Given the description of an element on the screen output the (x, y) to click on. 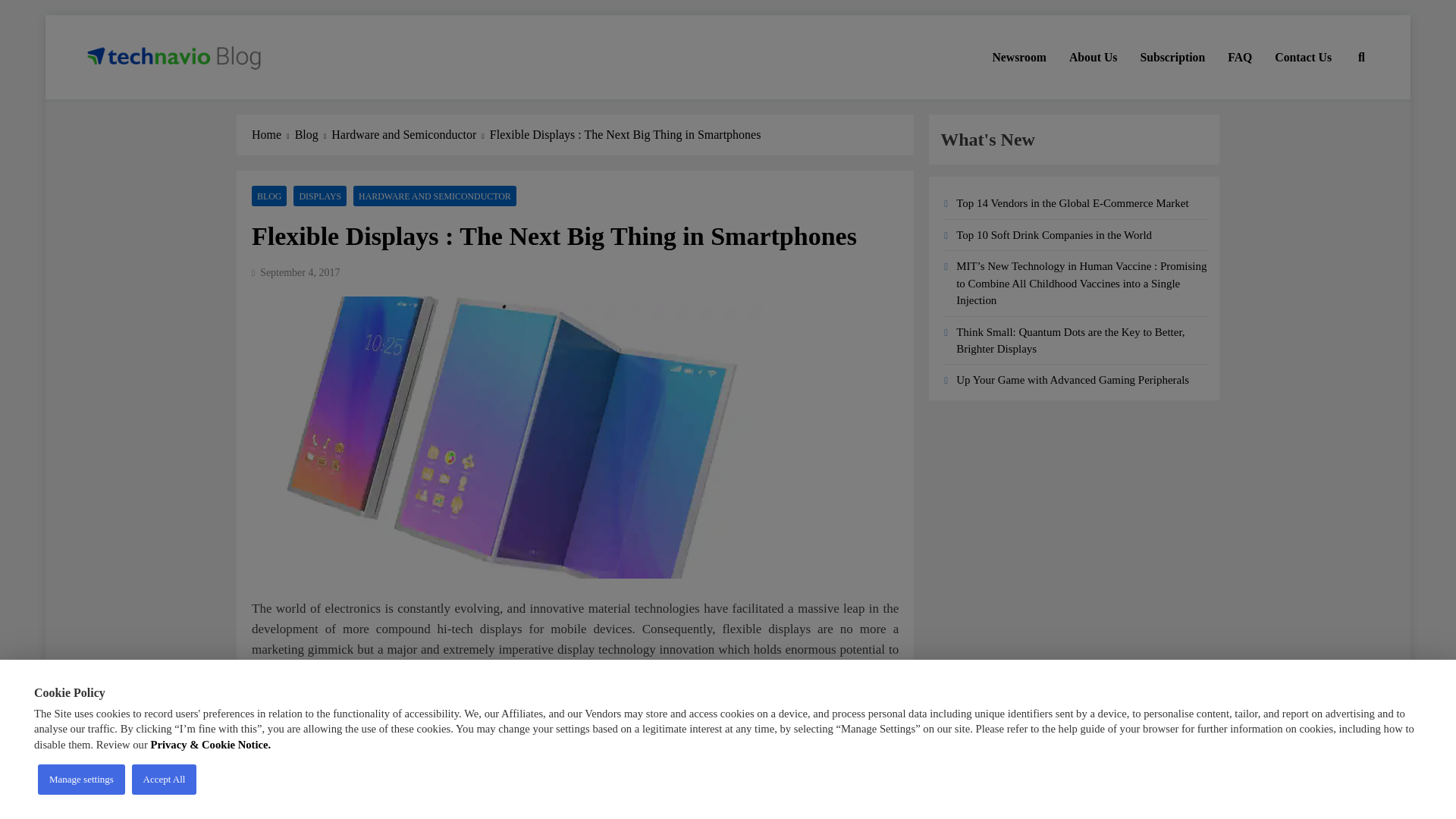
Top 10 Soft Drink Companies in the World (1053, 234)
Top 14 Vendors in the Global E-Commerce Market (1072, 203)
BLOG (268, 195)
FAQ (1239, 56)
Blog (313, 135)
About Us (1093, 56)
Hardware and Semiconductor (410, 135)
Home (273, 135)
light, thin, and foldable (451, 669)
